Given the description of an element on the screen output the (x, y) to click on. 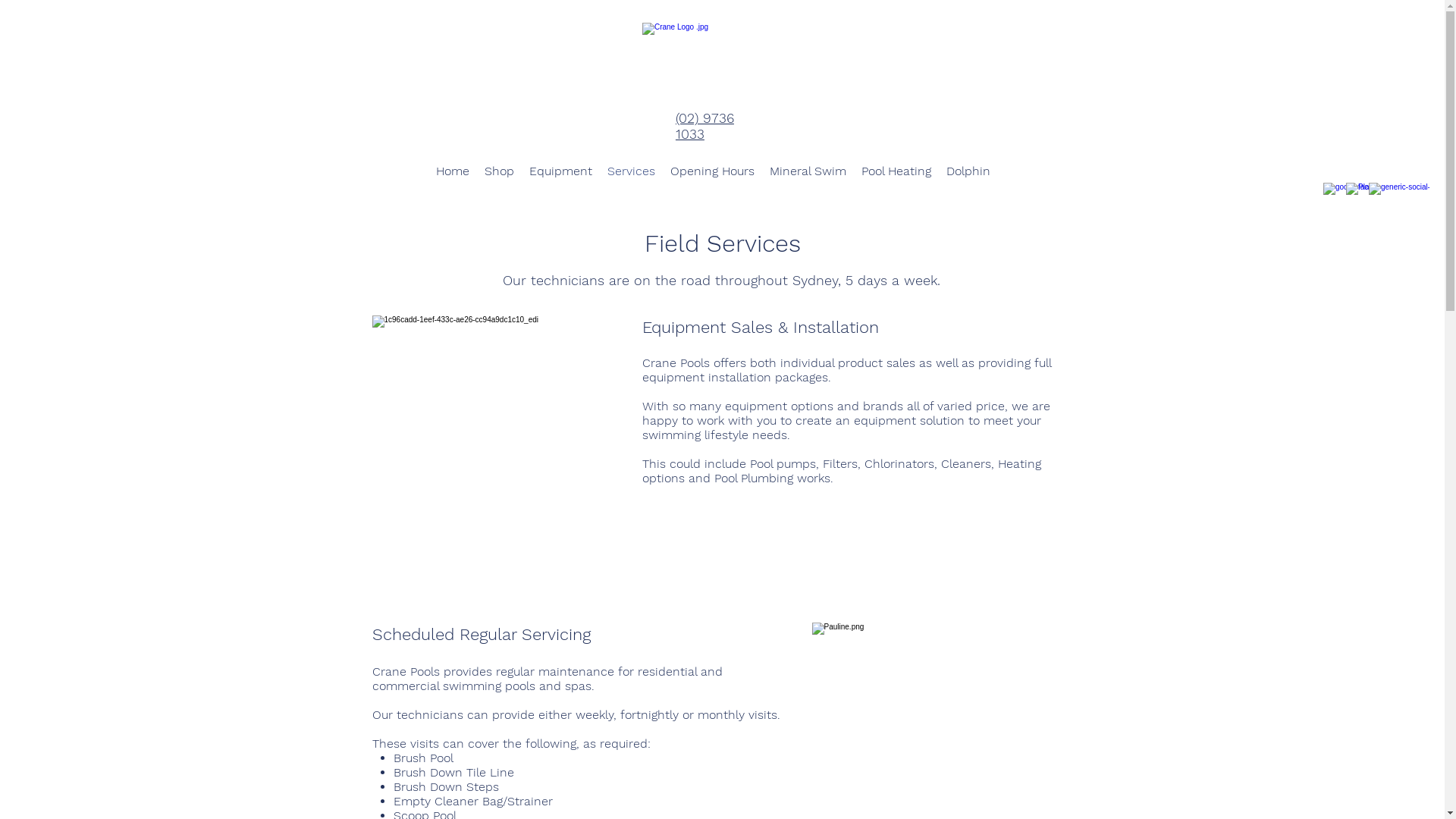
Dolphin Element type: text (967, 171)
Home Element type: text (452, 171)
Pool Heating Element type: text (895, 171)
Opening Hours Element type: text (712, 171)
Mineral Swim Element type: text (807, 171)
Shop Element type: text (498, 171)
(02) 9736 1033 Element type: text (704, 125)
Equipment Element type: text (560, 171)
Services Element type: text (630, 171)
